Given the description of an element on the screen output the (x, y) to click on. 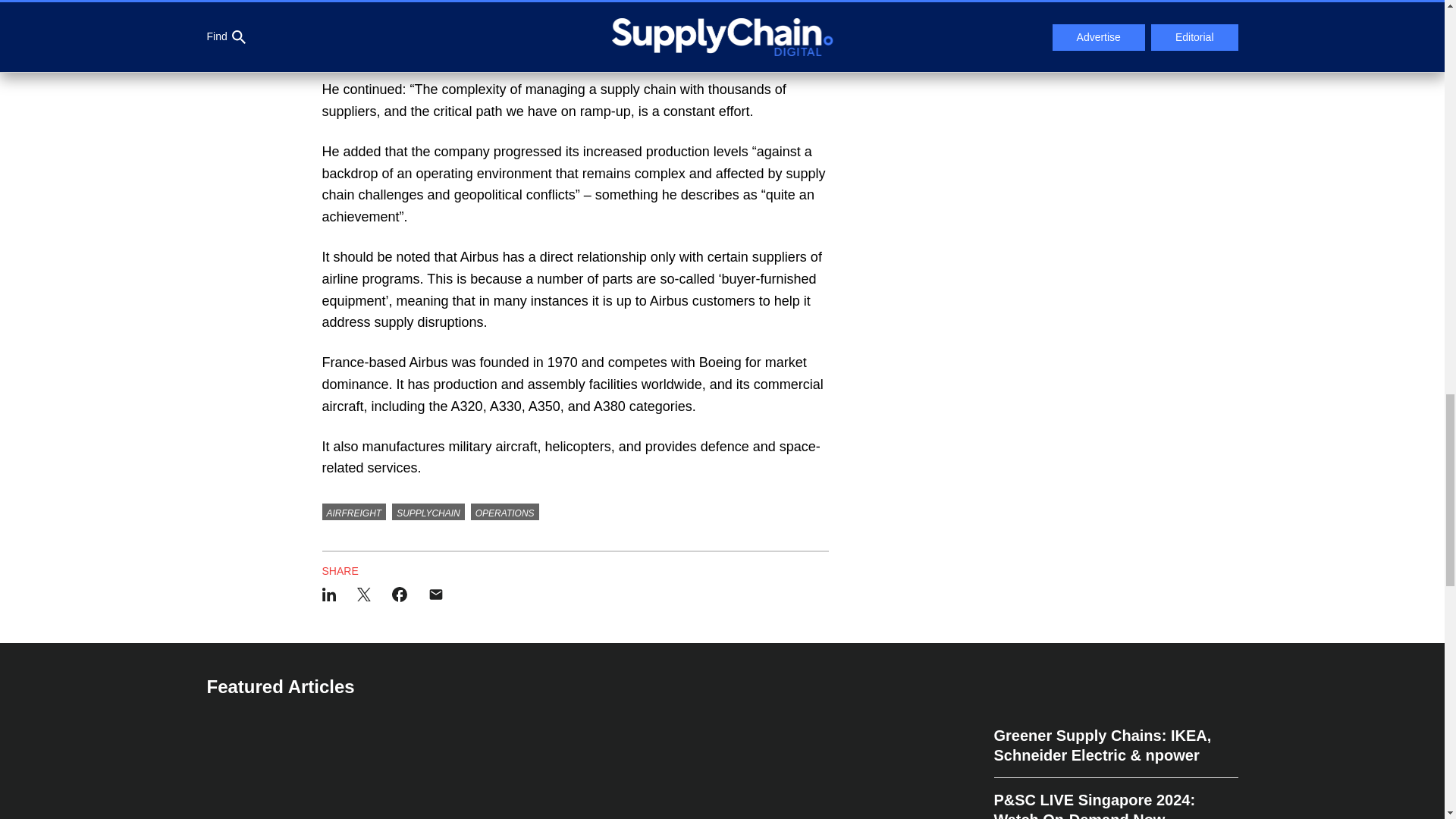
OPERATIONS (504, 511)
AIRFREIGHT (353, 511)
SUPPLYCHAIN (427, 511)
